Given the description of an element on the screen output the (x, y) to click on. 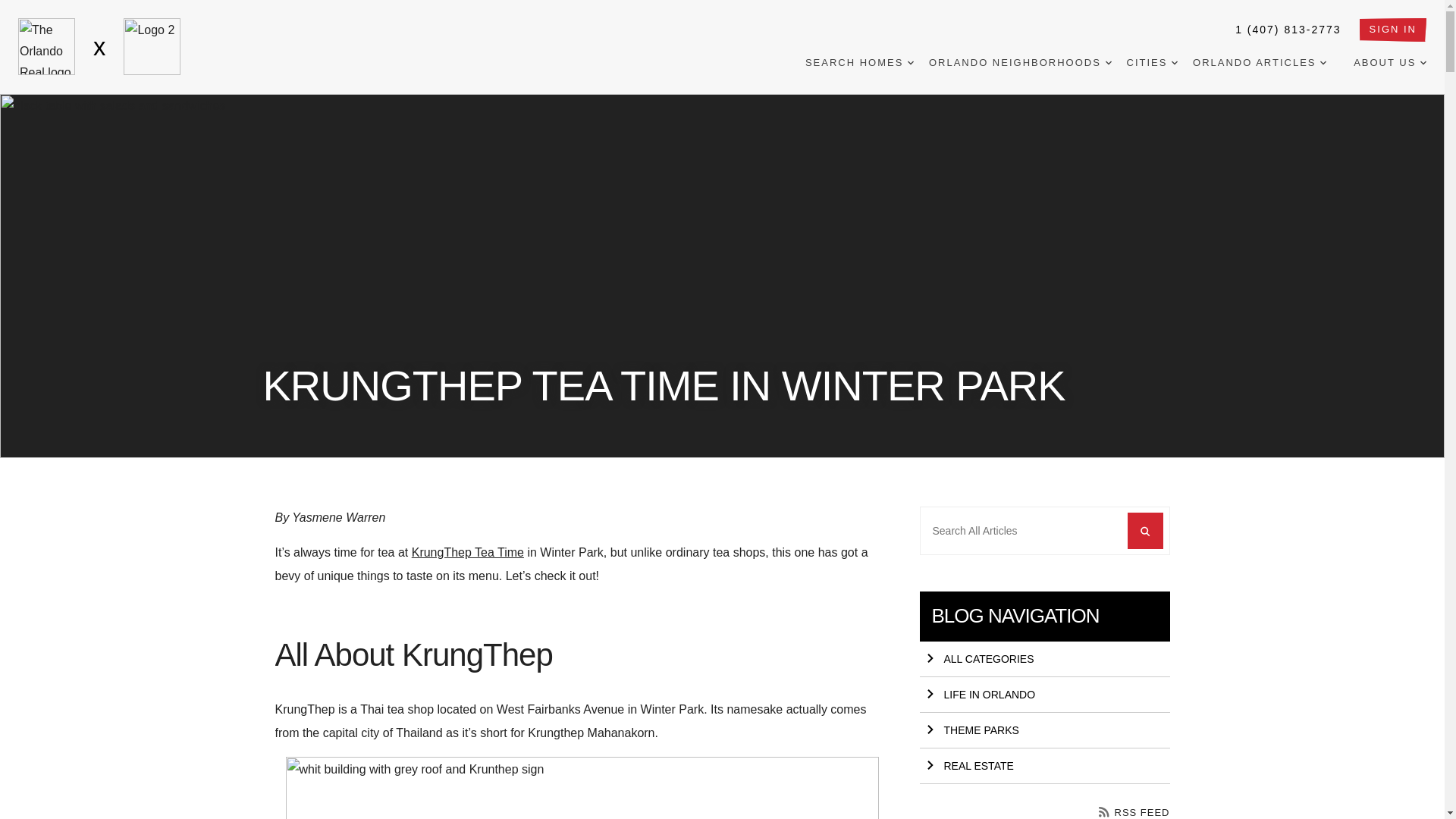
ORLANDO NEIGHBORHOODS DROPDOWN ARROW (1020, 63)
DROPDOWN ARROW (1174, 62)
CITIES DROPDOWN ARROW (1151, 63)
DROPDOWN ARROW (1108, 62)
DROPDOWN ARROW (910, 62)
RSS FEED (1134, 812)
SEARCH HOMES DROPDOWN ARROW (859, 63)
SIGN IN (1392, 29)
DROPDOWN ARROW (1323, 62)
